Given the description of an element on the screen output the (x, y) to click on. 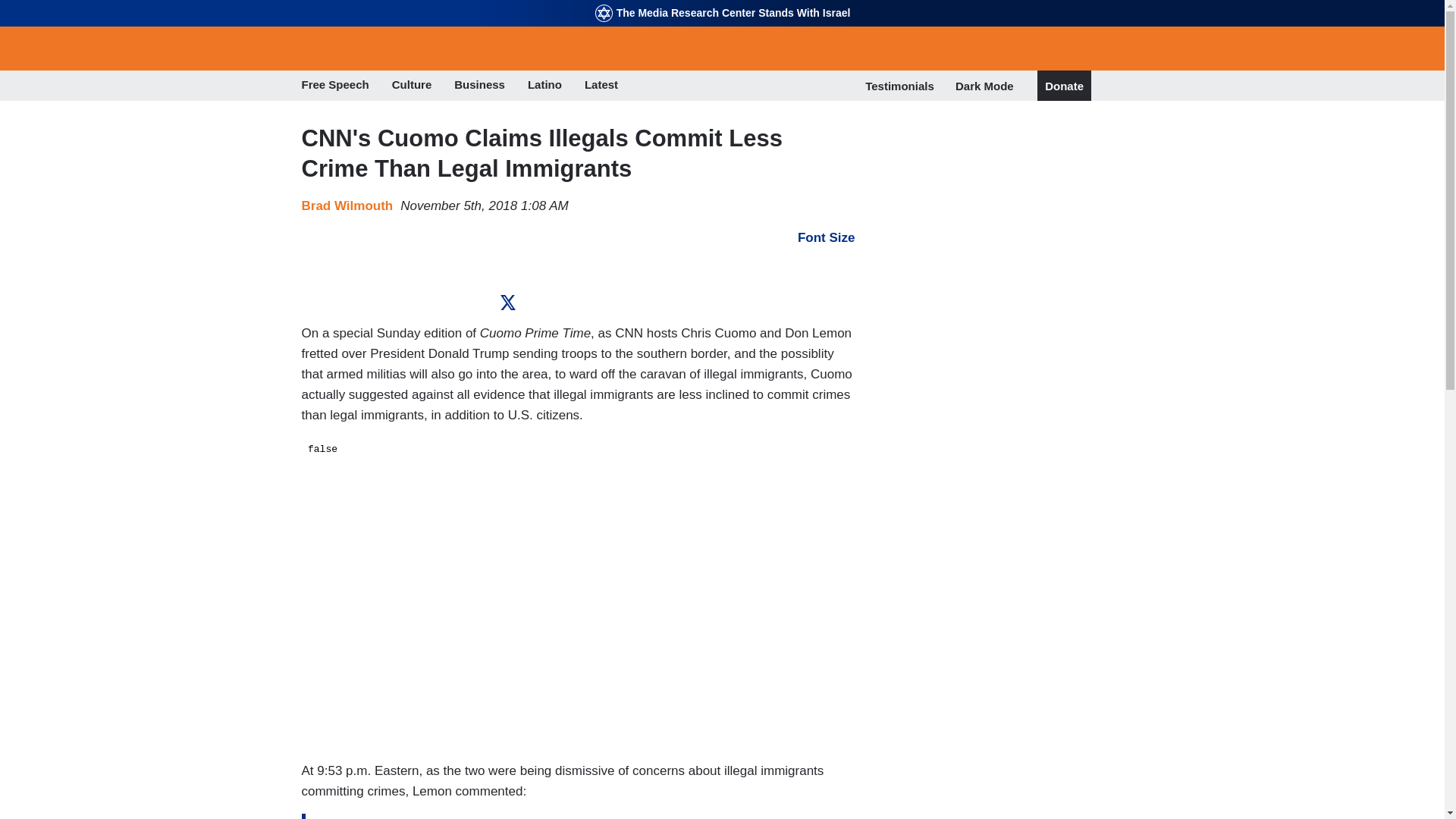
Skip to main content (721, 1)
Latino (544, 85)
Dark Mode (984, 85)
Donate (1064, 86)
Testimonials (899, 85)
Latest (601, 85)
Free Speech (335, 85)
Business (479, 85)
Culture (411, 85)
